Given the description of an element on the screen output the (x, y) to click on. 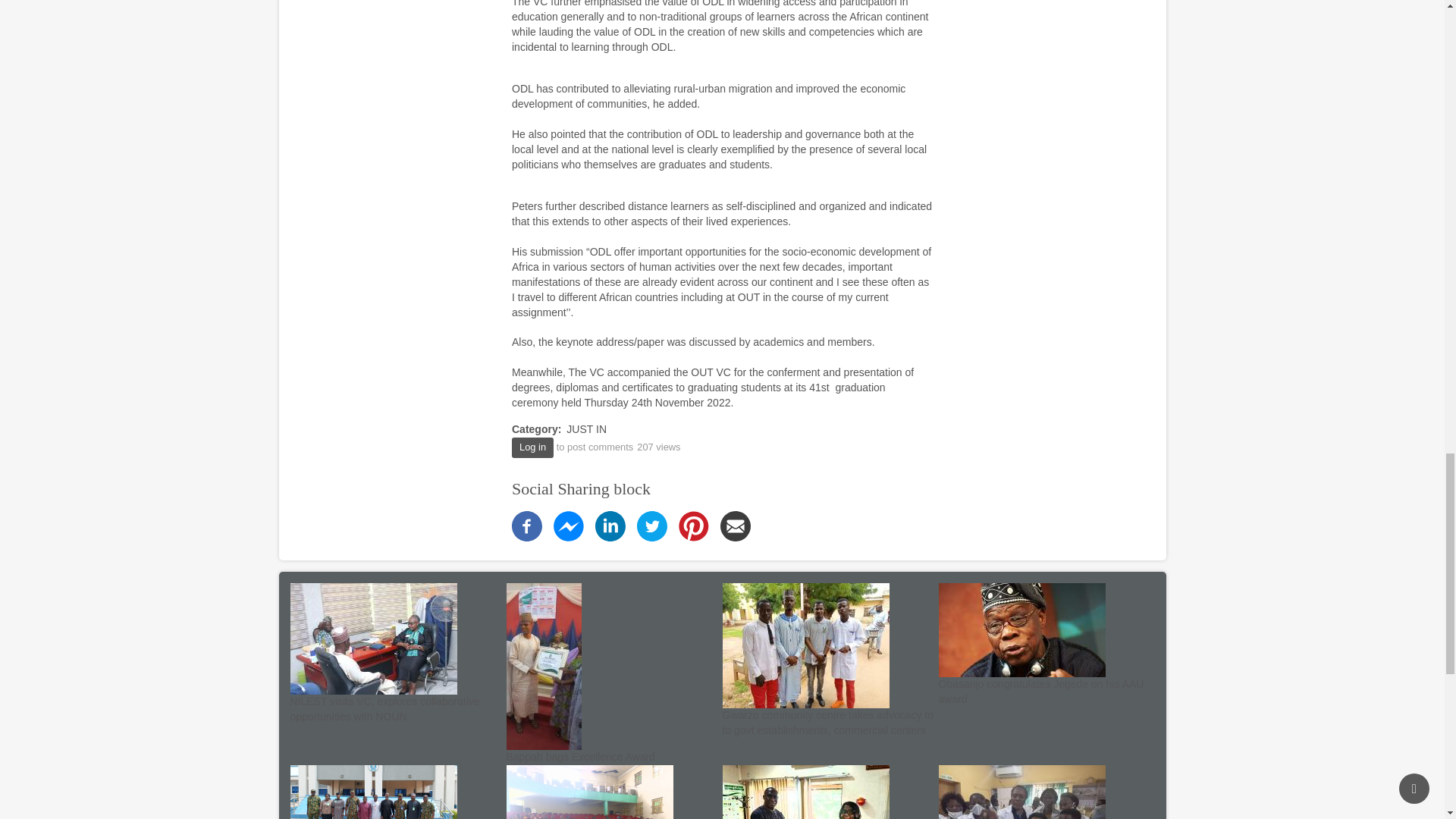
JUST IN (586, 428)
Email (735, 525)
Facebook messenger (568, 525)
Pinterest (693, 525)
Facebook (526, 525)
Twitter (651, 525)
Log in (532, 447)
Linkedin (610, 525)
